Given the description of an element on the screen output the (x, y) to click on. 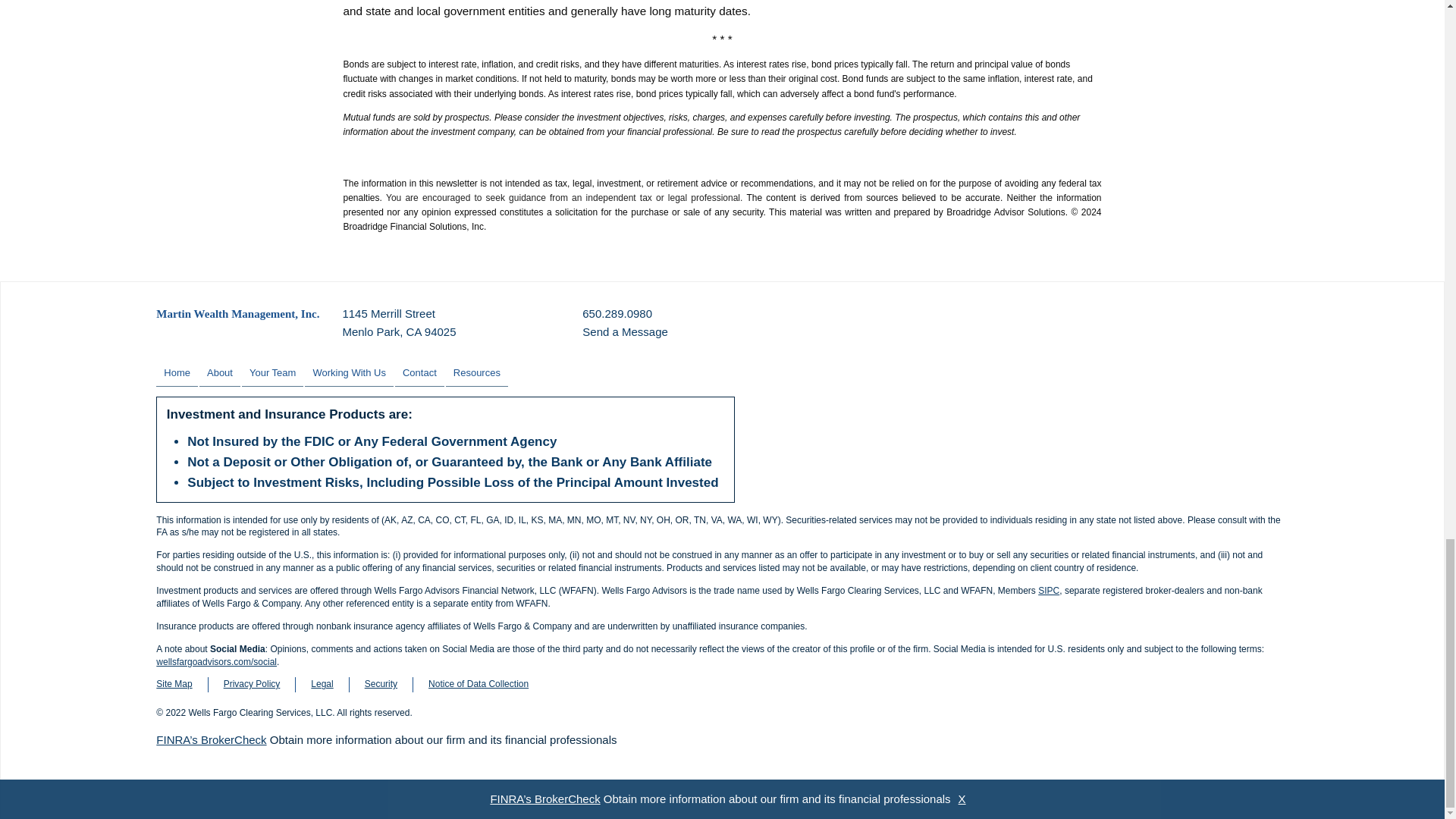
Contact (419, 373)
650.289.0980 (617, 313)
Your Team (271, 373)
Resources (398, 322)
About (476, 373)
Martin Wealth Management, Inc. (219, 373)
Working With Us (236, 313)
Home (348, 373)
Send a Message (176, 373)
